Given the description of an element on the screen output the (x, y) to click on. 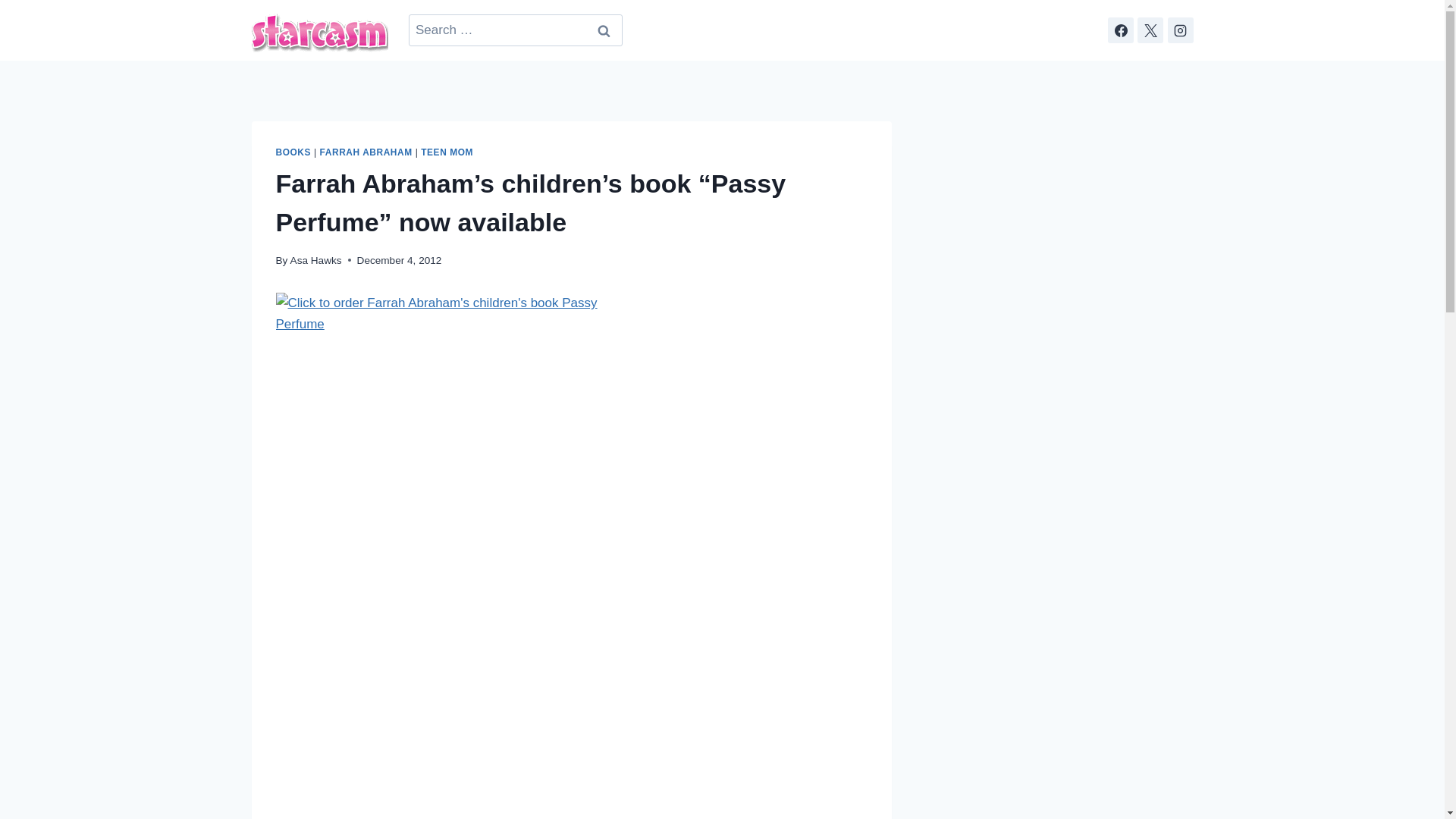
Search (604, 30)
FARRAH ABRAHAM (366, 152)
Search (604, 30)
BOOKS (293, 152)
Search (604, 30)
Asa Hawks (315, 260)
TEEN MOM (446, 152)
